Given the description of an element on the screen output the (x, y) to click on. 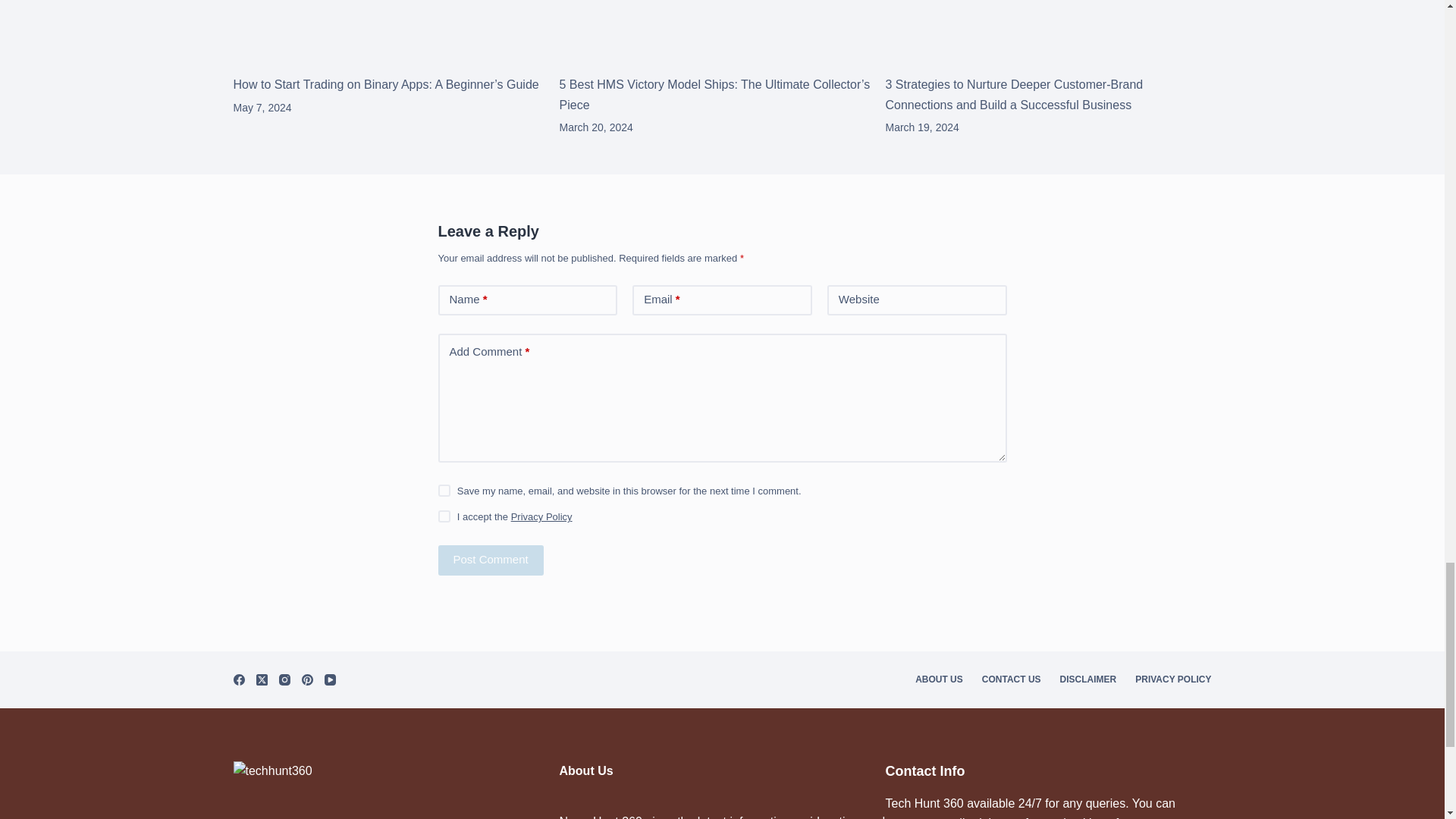
on (443, 516)
yes (443, 490)
